Given the description of an element on the screen output the (x, y) to click on. 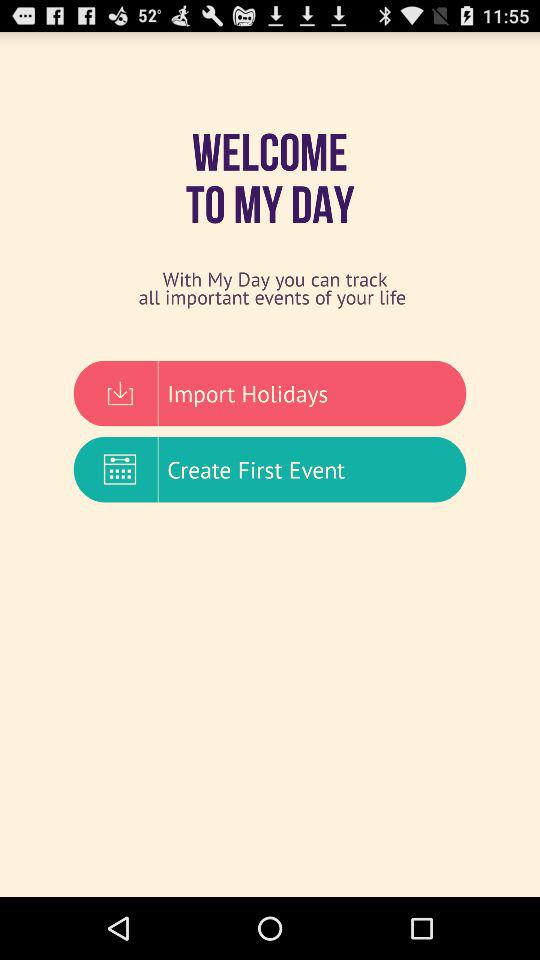
click icon below import holidays item (269, 469)
